Given the description of an element on the screen output the (x, y) to click on. 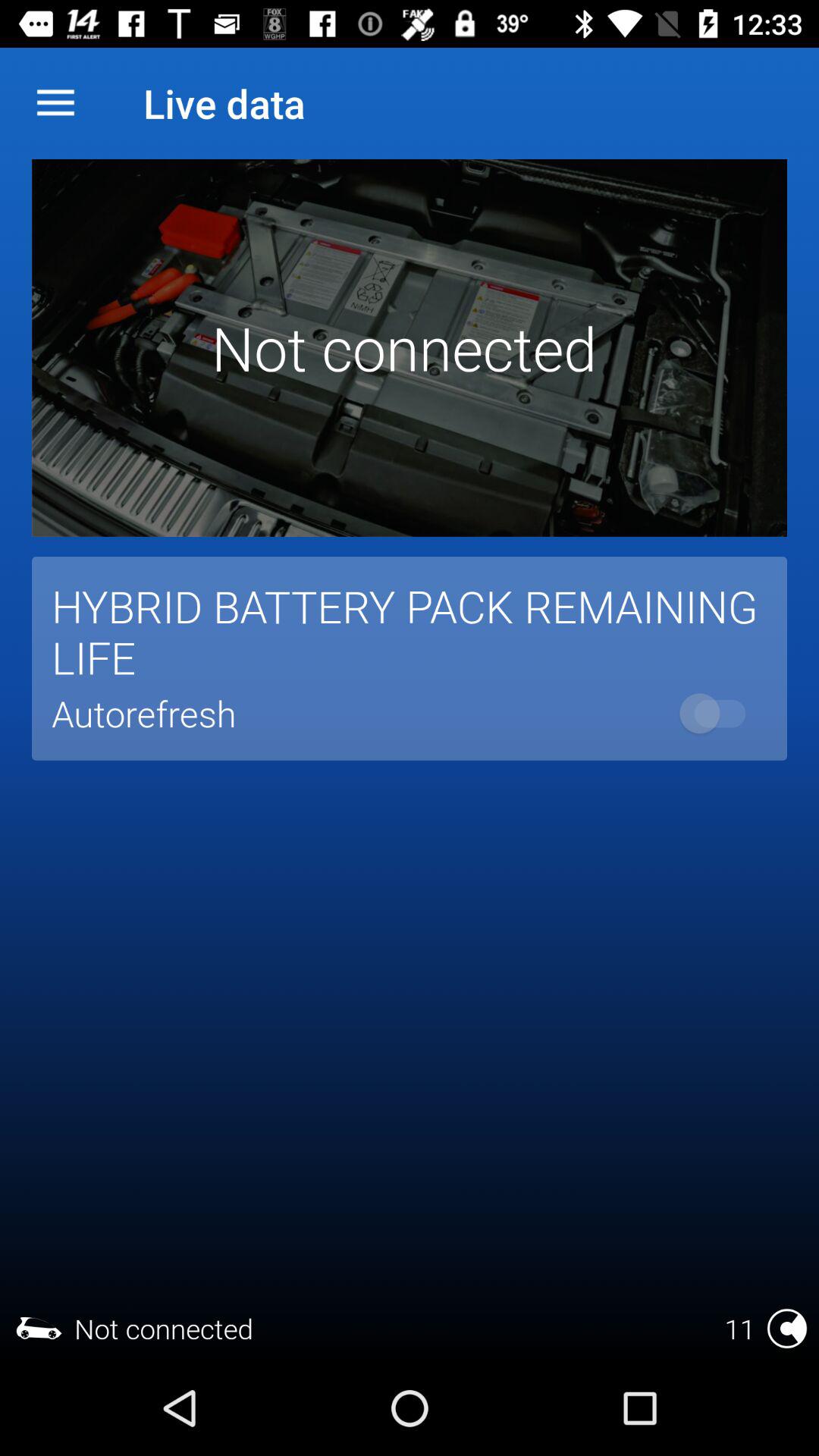
select the car symbol in the bottom of the page (38, 1328)
click on the icon which is right to the number 11 (787, 1329)
click on the image which says not connected (409, 347)
